Given the description of an element on the screen output the (x, y) to click on. 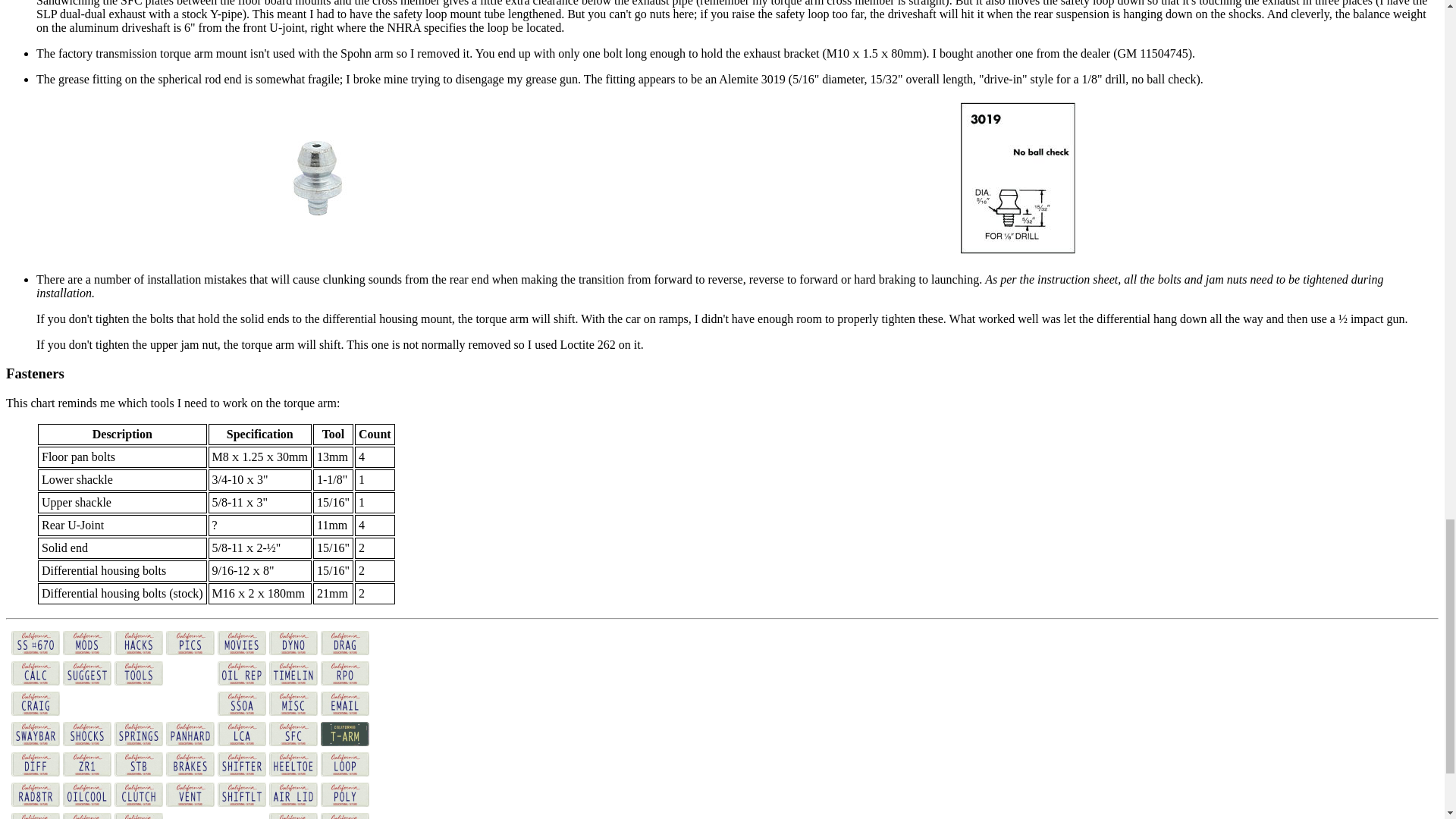
EMail Craig (344, 705)
RPO details (344, 674)
Hotchkis sway bars (35, 735)
Oil report (241, 674)
Drag strip runs (344, 644)
The Super Sport Owners Association (241, 705)
Timeline (293, 674)
Craig's home page (35, 705)
Miscellaneous (293, 705)
Gear ratio calculator (35, 674)
